Given the description of an element on the screen output the (x, y) to click on. 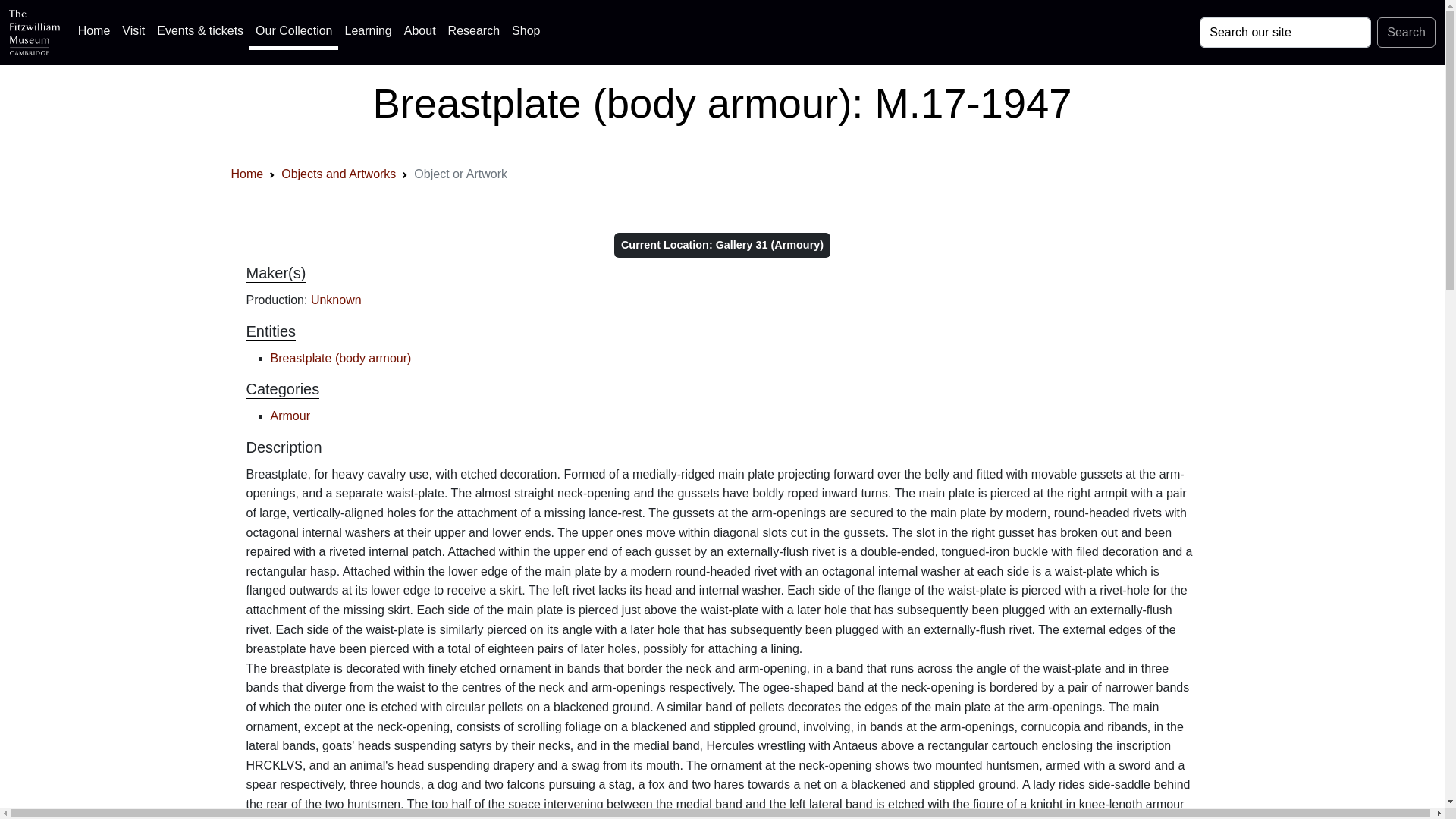
Shop (525, 30)
Visit (133, 30)
Learning (367, 30)
Research (473, 30)
About (419, 30)
Search (1406, 32)
Objects and Artworks (338, 173)
Unknown (336, 299)
Armour (288, 415)
Home (246, 173)
